Given the description of an element on the screen output the (x, y) to click on. 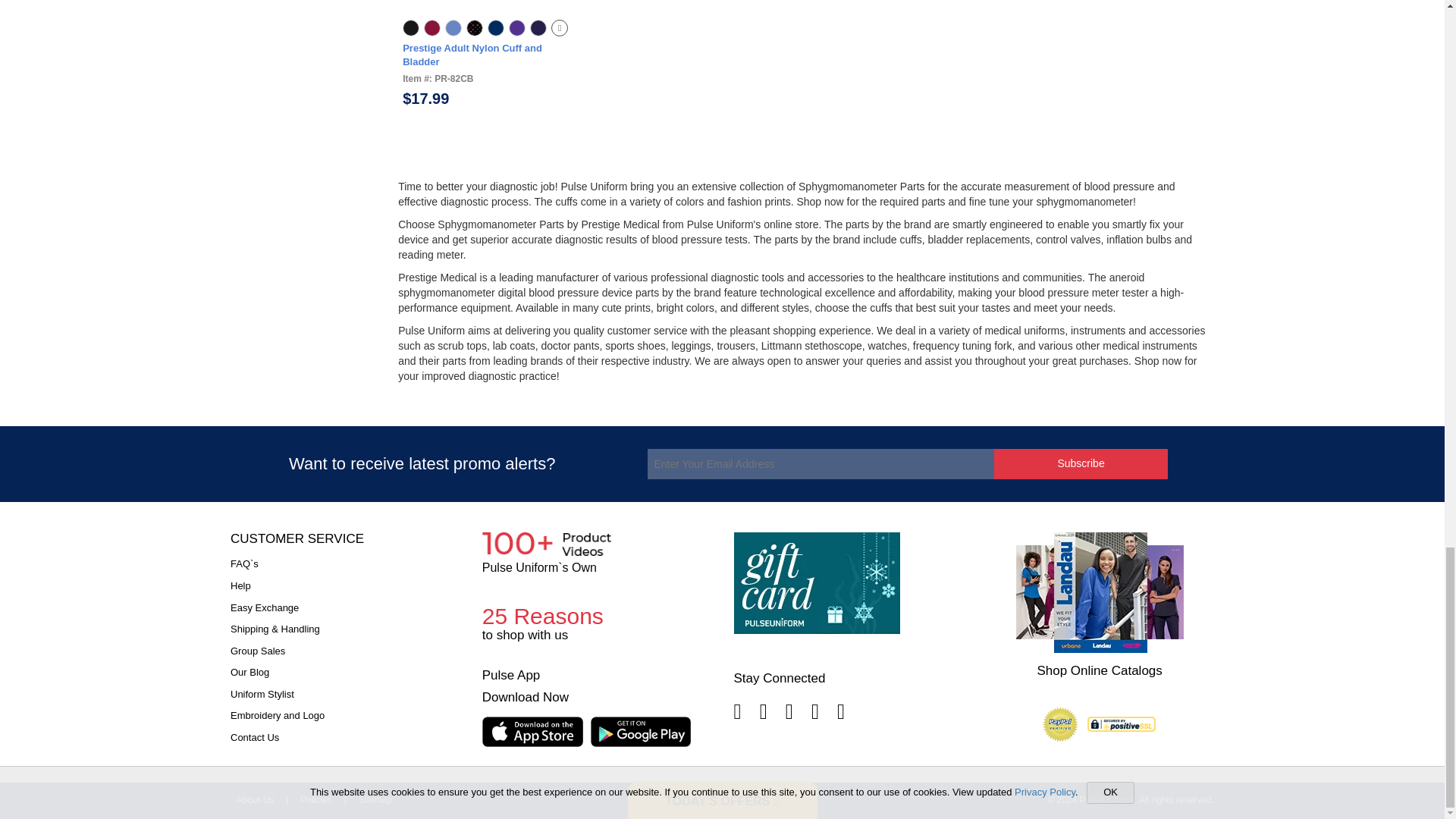
Subscribe (1080, 463)
